Given the description of an element on the screen output the (x, y) to click on. 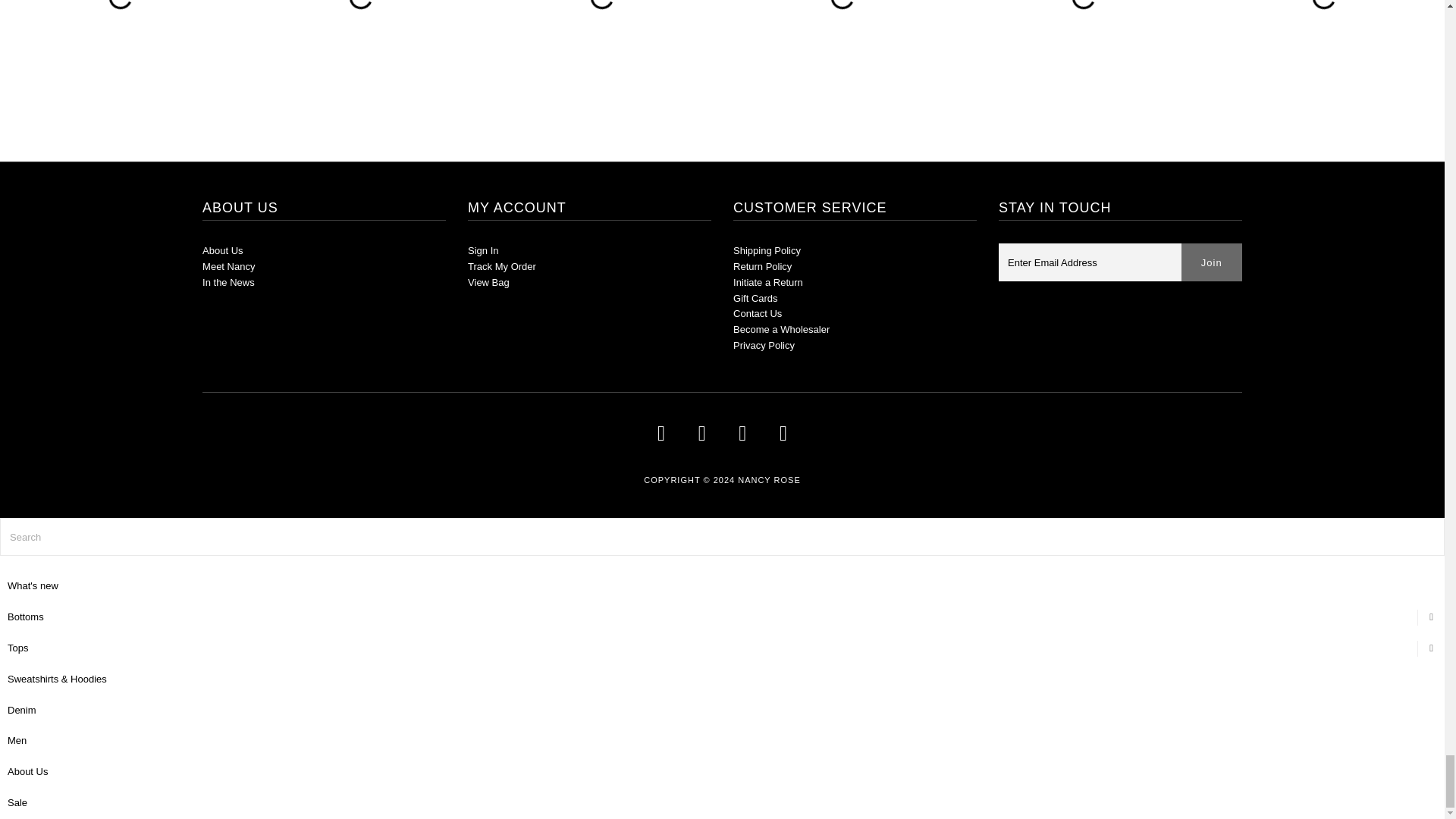
Join (1210, 262)
